Given the description of an element on the screen output the (x, y) to click on. 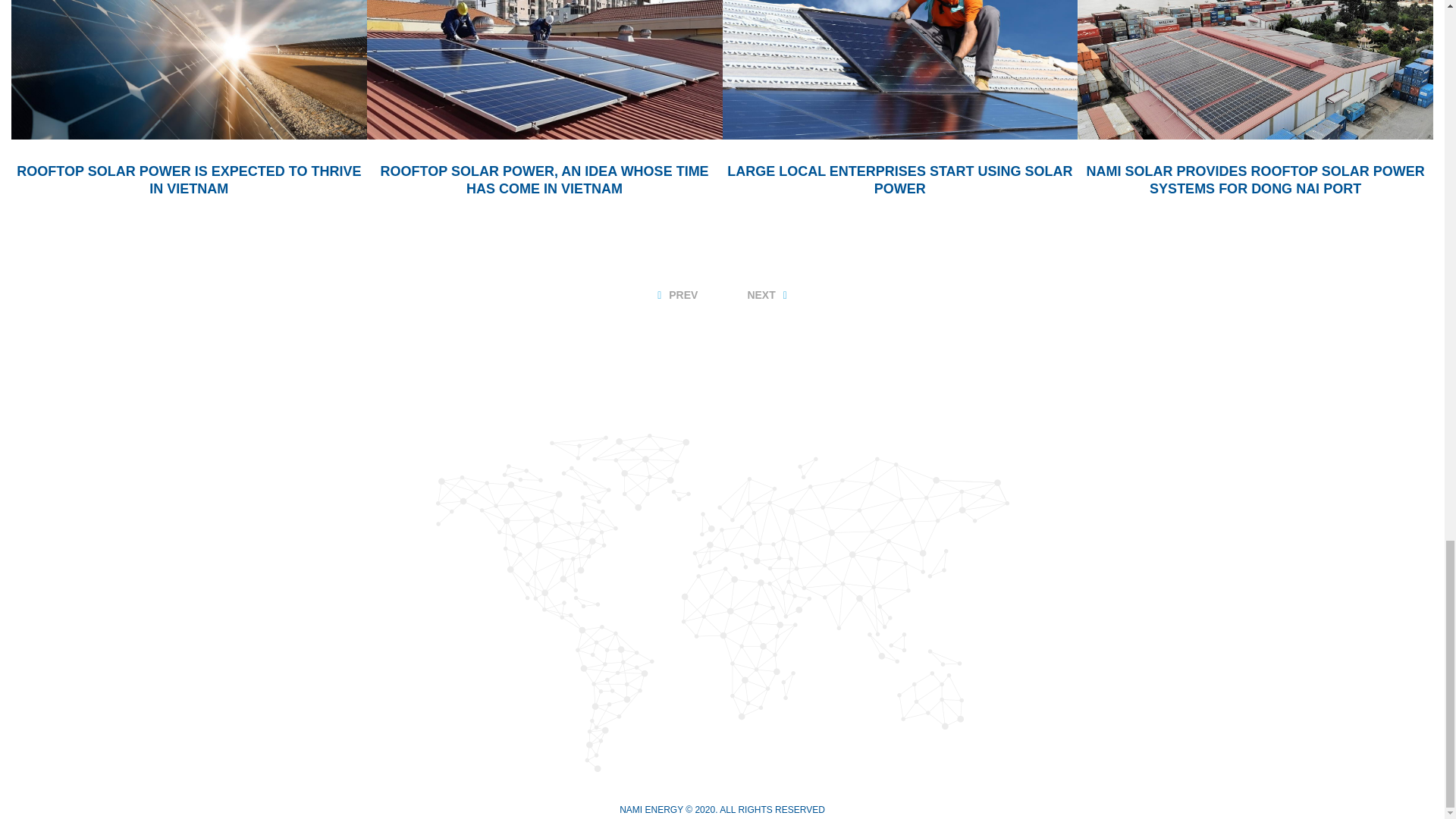
LARGE LOCAL ENTERPRISES START USING SOLAR POWER (898, 179)
ROOFTOP SOLAR POWER IS EXPECTED TO THRIVE IN VIETNAM (188, 179)
ROOFTOP SOLAR POWER, AN IDEA WHOSE TIME HAS COME IN VIETNAM (544, 179)
